Given the description of an element on the screen output the (x, y) to click on. 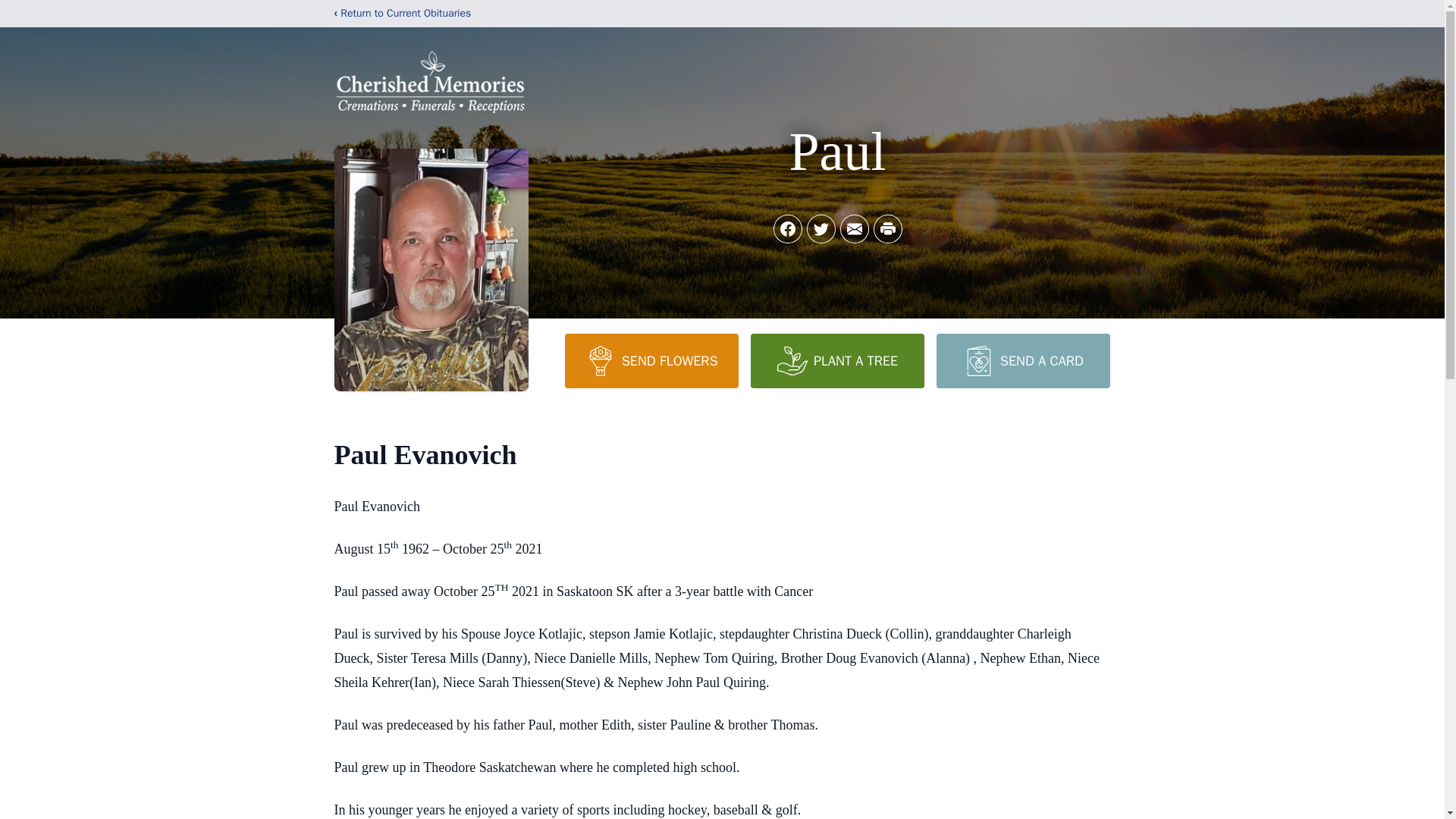
SEND A CARD (1022, 360)
PLANT A TREE (837, 360)
SEND FLOWERS (651, 360)
